Given the description of an element on the screen output the (x, y) to click on. 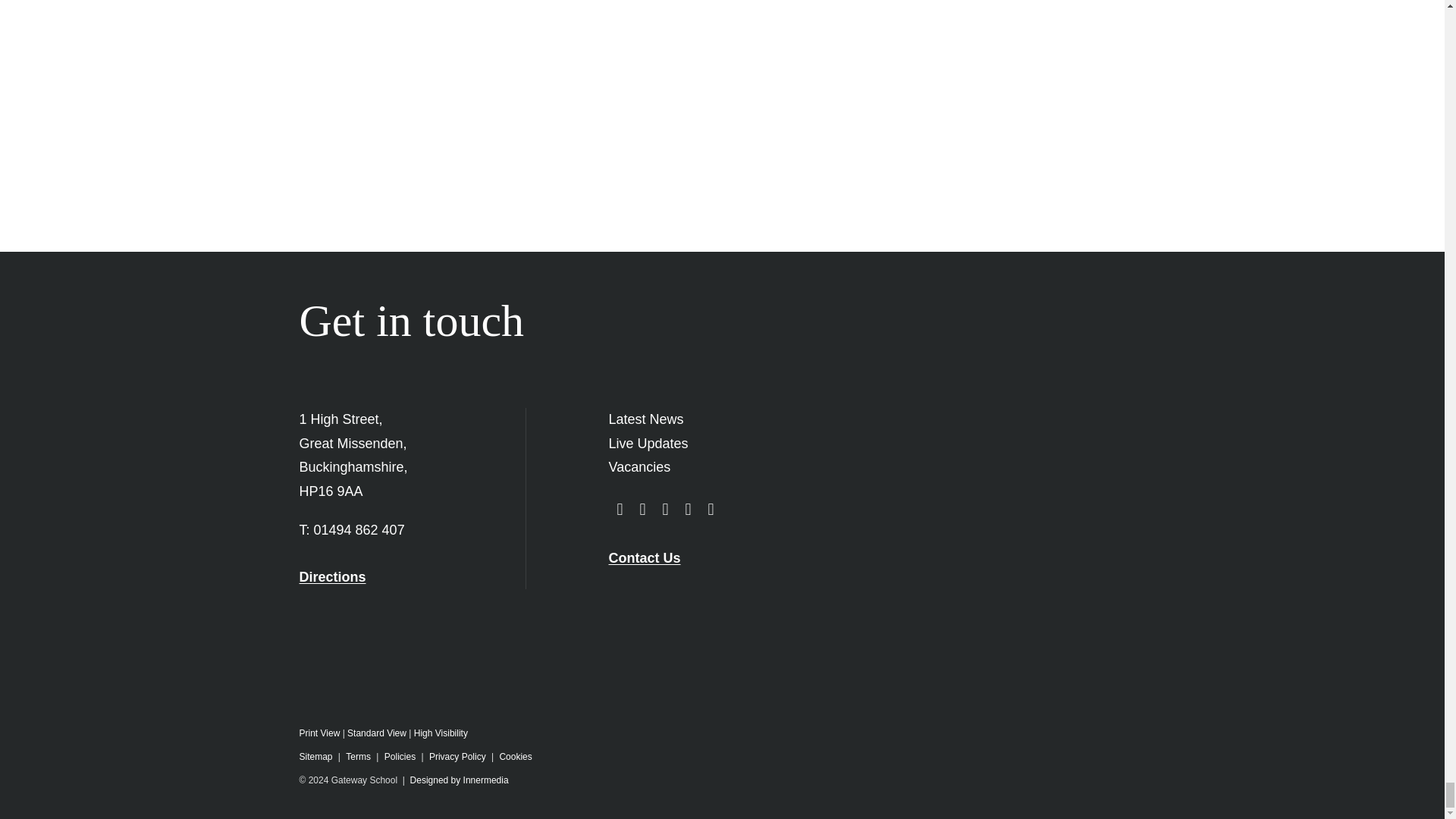
Switch to High Visibility (440, 733)
Switch to Standard Visibility (376, 733)
Switch to Print (318, 733)
